Given the description of an element on the screen output the (x, y) to click on. 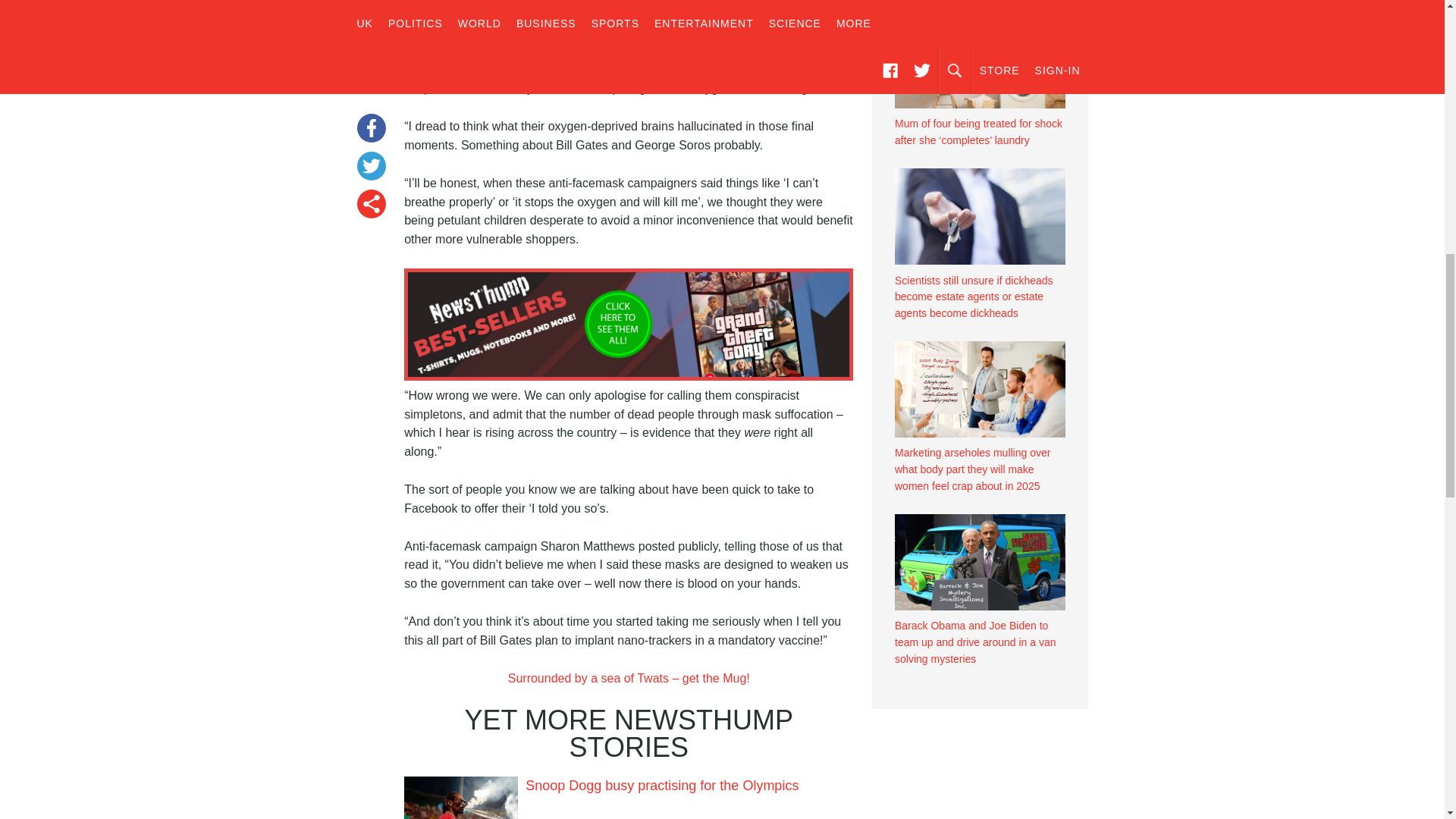
Snoop Dogg busy practising for the Olympics (661, 785)
